Given the description of an element on the screen output the (x, y) to click on. 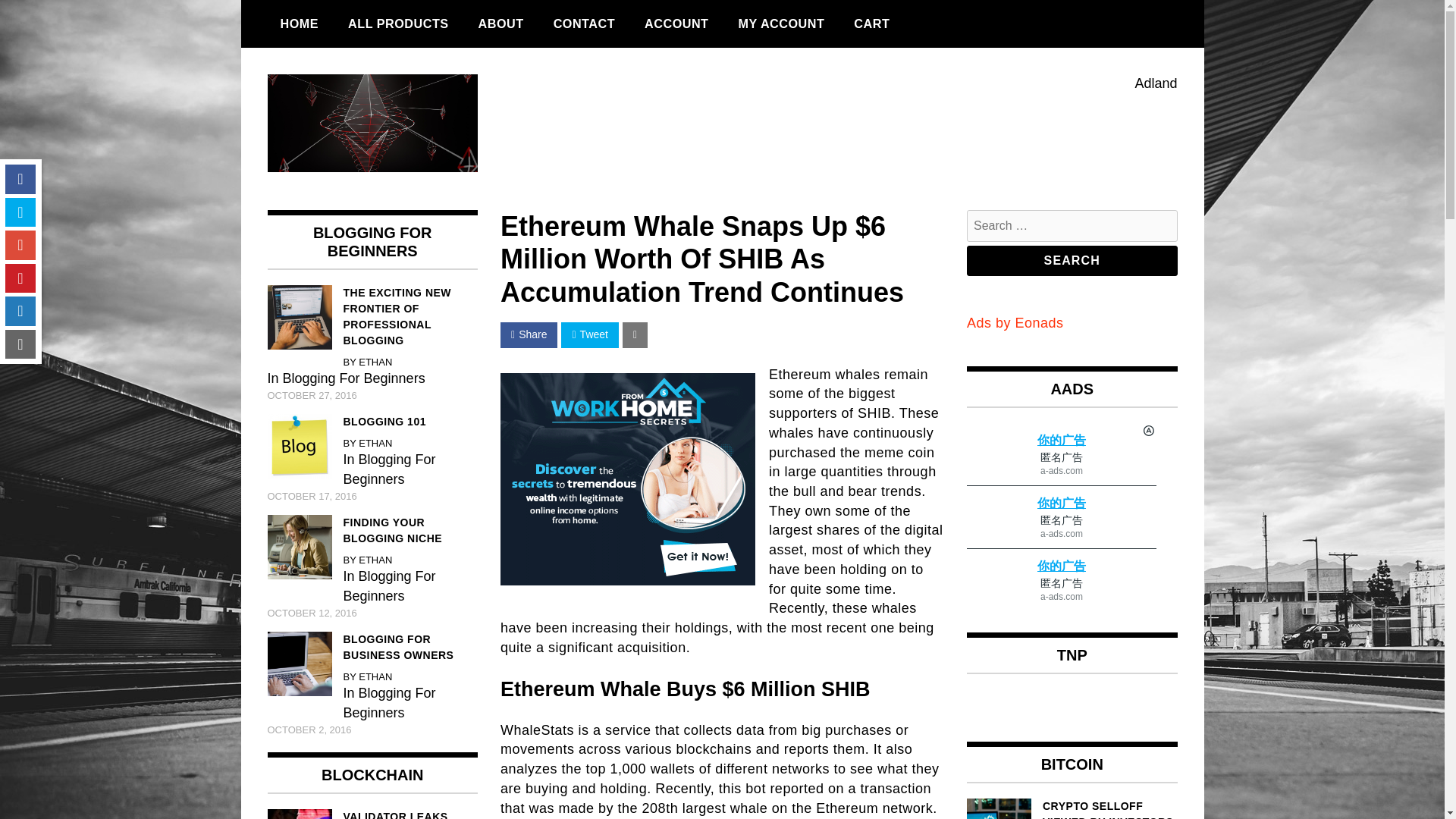
CART (872, 23)
ALL PRODUCTS (398, 23)
Share (528, 335)
Search (1071, 260)
Work from Home Secrets (627, 479)
Tweet on Twitter (588, 335)
Tweet (588, 335)
Work from Home Secrets (627, 580)
HOME (298, 23)
ABOUT (501, 23)
